Given the description of an element on the screen output the (x, y) to click on. 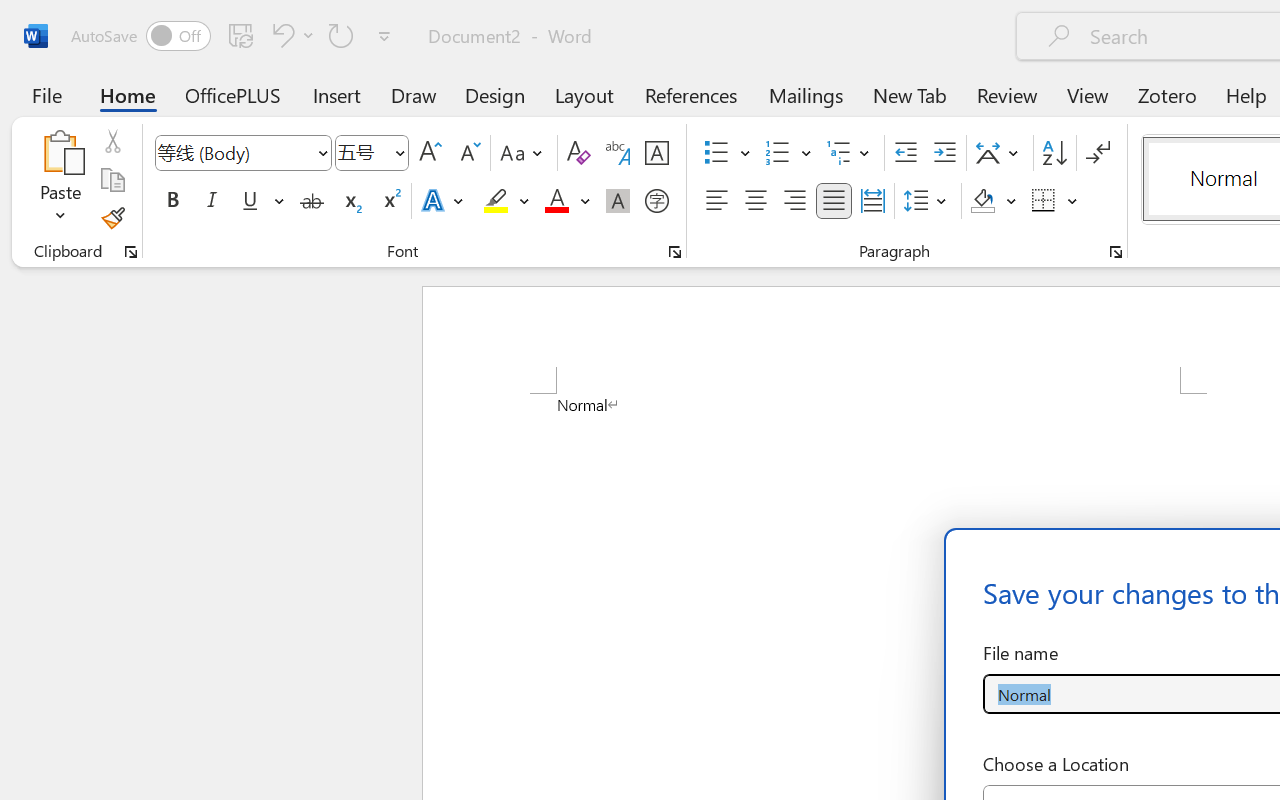
Shading RGB(0, 0, 0) (982, 201)
Mailings (806, 94)
Font Size (362, 152)
Shrink Font (468, 153)
Decrease Indent (906, 153)
Character Border (656, 153)
Home (127, 94)
View (1087, 94)
Office Clipboard... (131, 252)
Bullets (727, 153)
Customize Quick Access Toolbar (384, 35)
Change Case (524, 153)
Copy (112, 179)
Design (495, 94)
Text Effects and Typography (444, 201)
